Given the description of an element on the screen output the (x, y) to click on. 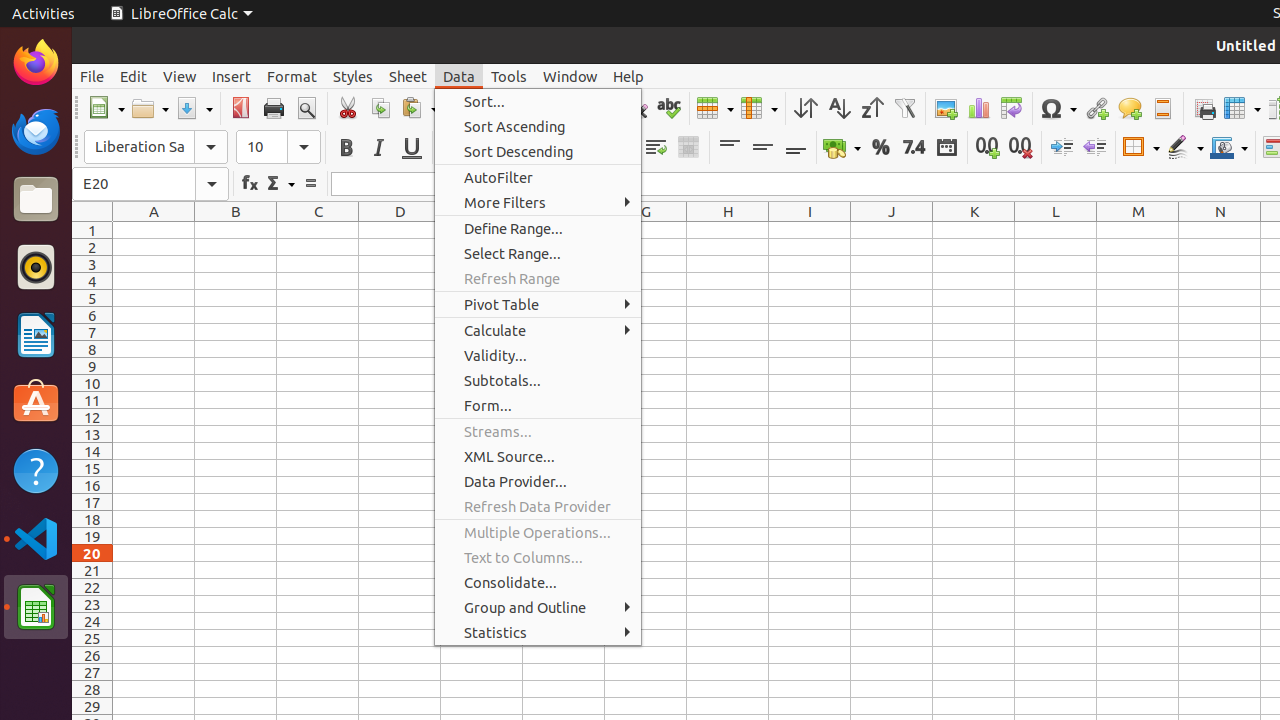
Files Element type: push-button (36, 199)
Validity... Element type: menu-item (538, 355)
Rhythmbox Element type: push-button (36, 267)
Decrease Element type: push-button (1094, 147)
Copy Element type: push-button (380, 108)
